Given the description of an element on the screen output the (x, y) to click on. 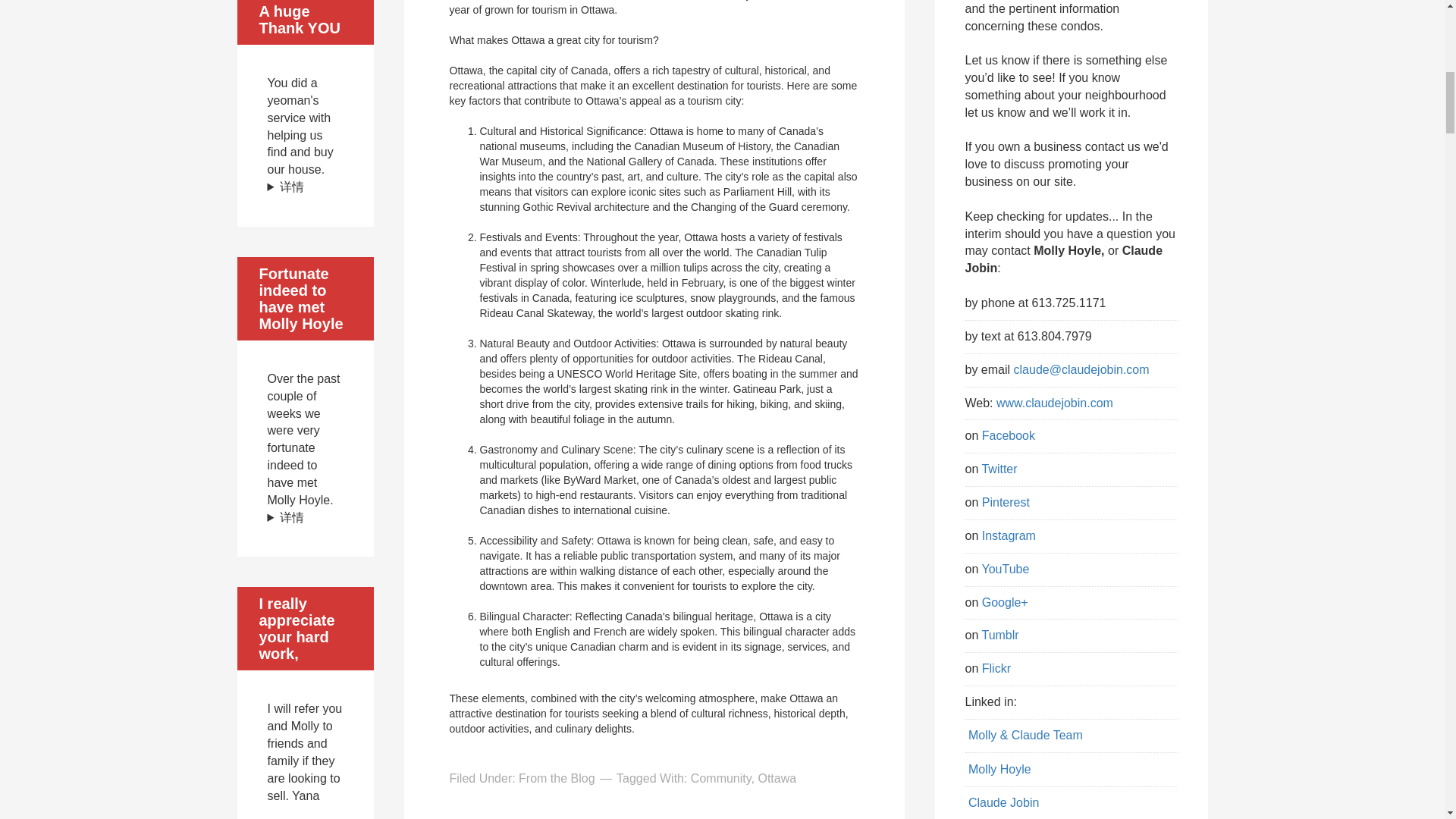
Ottawa (776, 778)
Facebook (1008, 435)
Community (720, 778)
From the Blog (556, 778)
www.claudejobin.com (1054, 402)
